Given the description of an element on the screen output the (x, y) to click on. 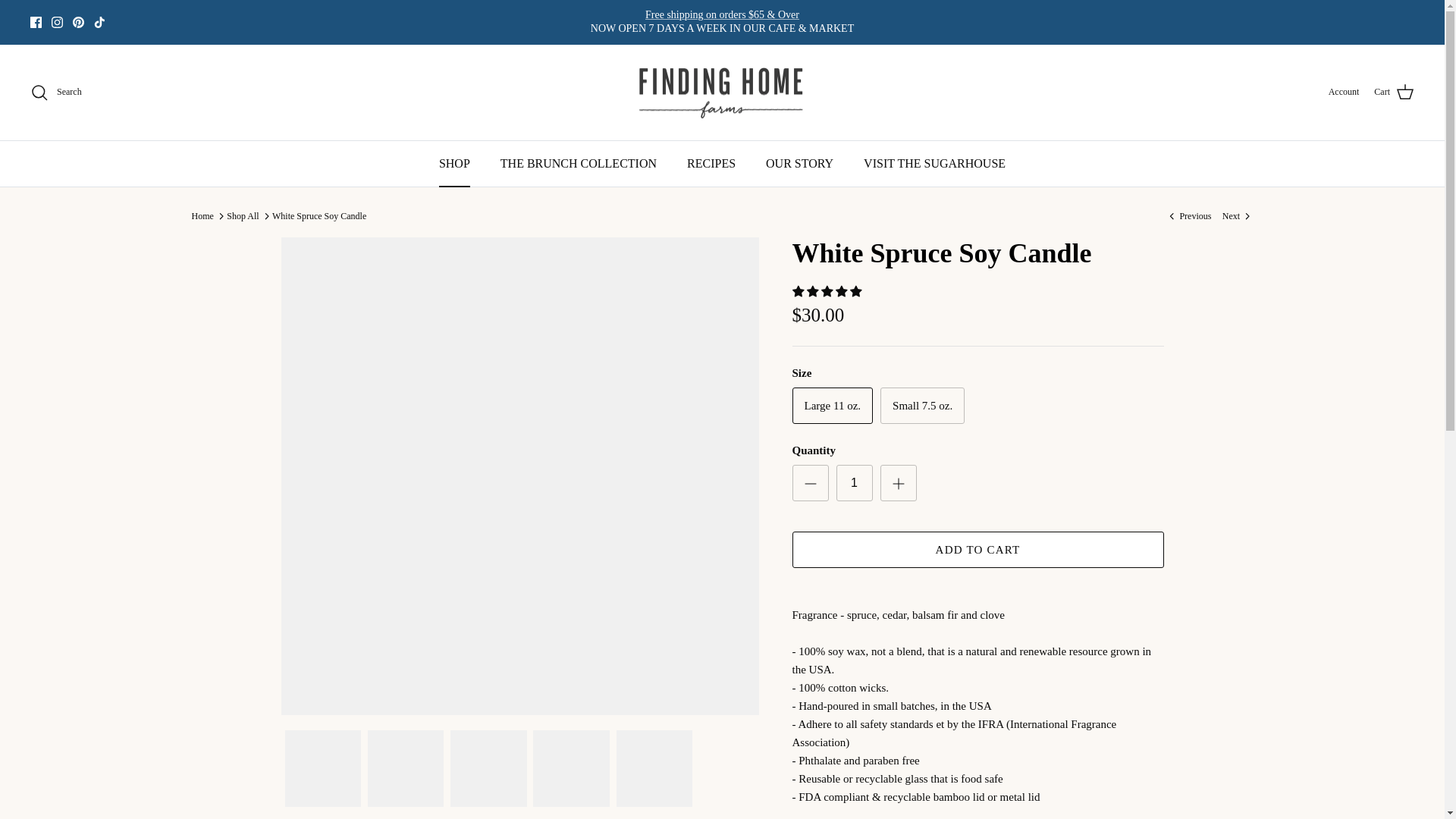
Plus (897, 484)
Sage Evergreen Soy Candle (1188, 215)
Facebook (36, 21)
Finding Home Farms (722, 92)
Account (1343, 92)
Instagram (56, 21)
SHOP (454, 163)
Pinterest (78, 21)
Facebook (36, 21)
Minus (809, 484)
Pinterest (78, 21)
1 (853, 483)
Search (55, 92)
Cart (1393, 92)
Instagram (56, 21)
